Given the description of an element on the screen output the (x, y) to click on. 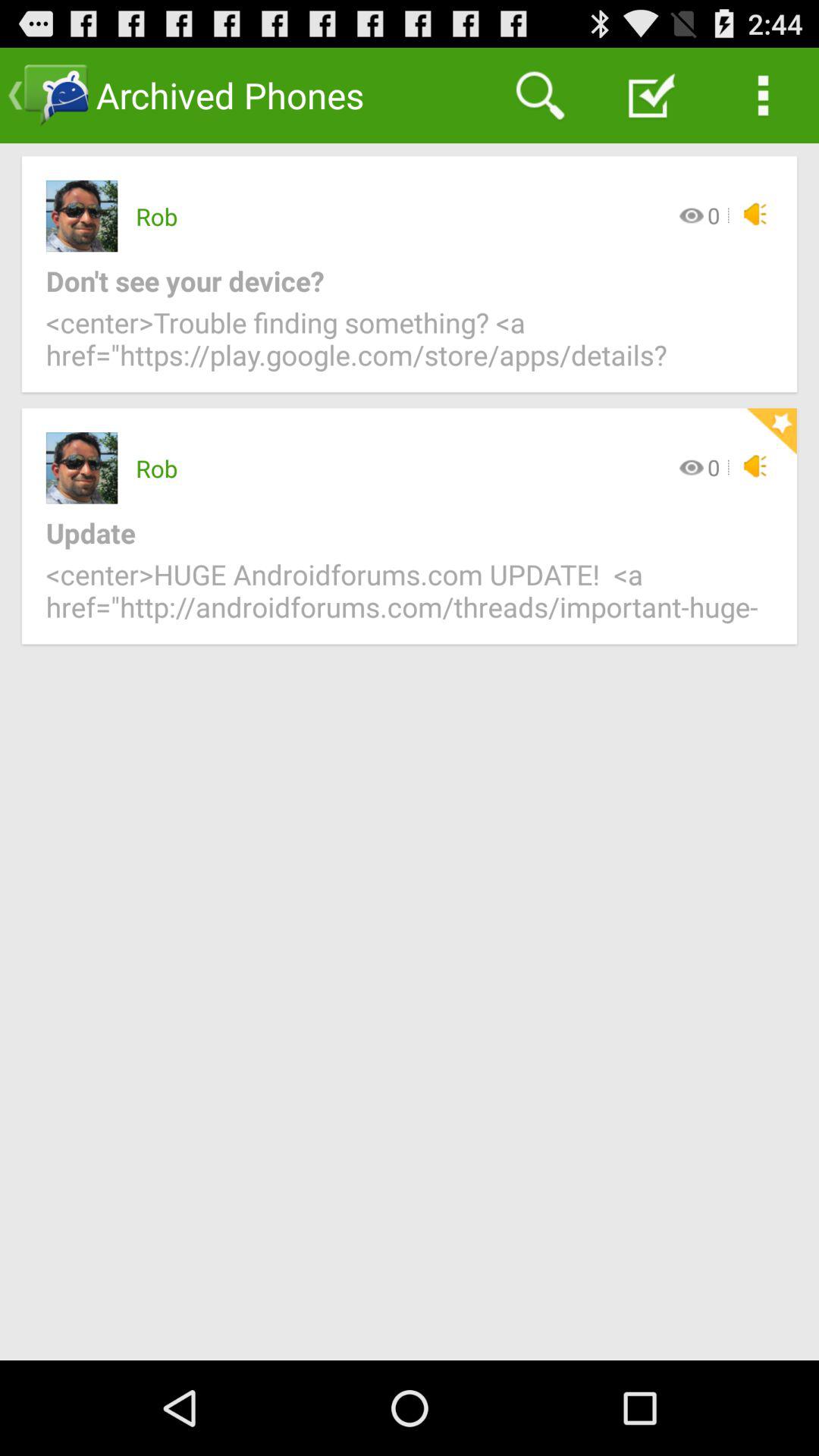
click item to the right of the archived phones (540, 95)
